Given the description of an element on the screen output the (x, y) to click on. 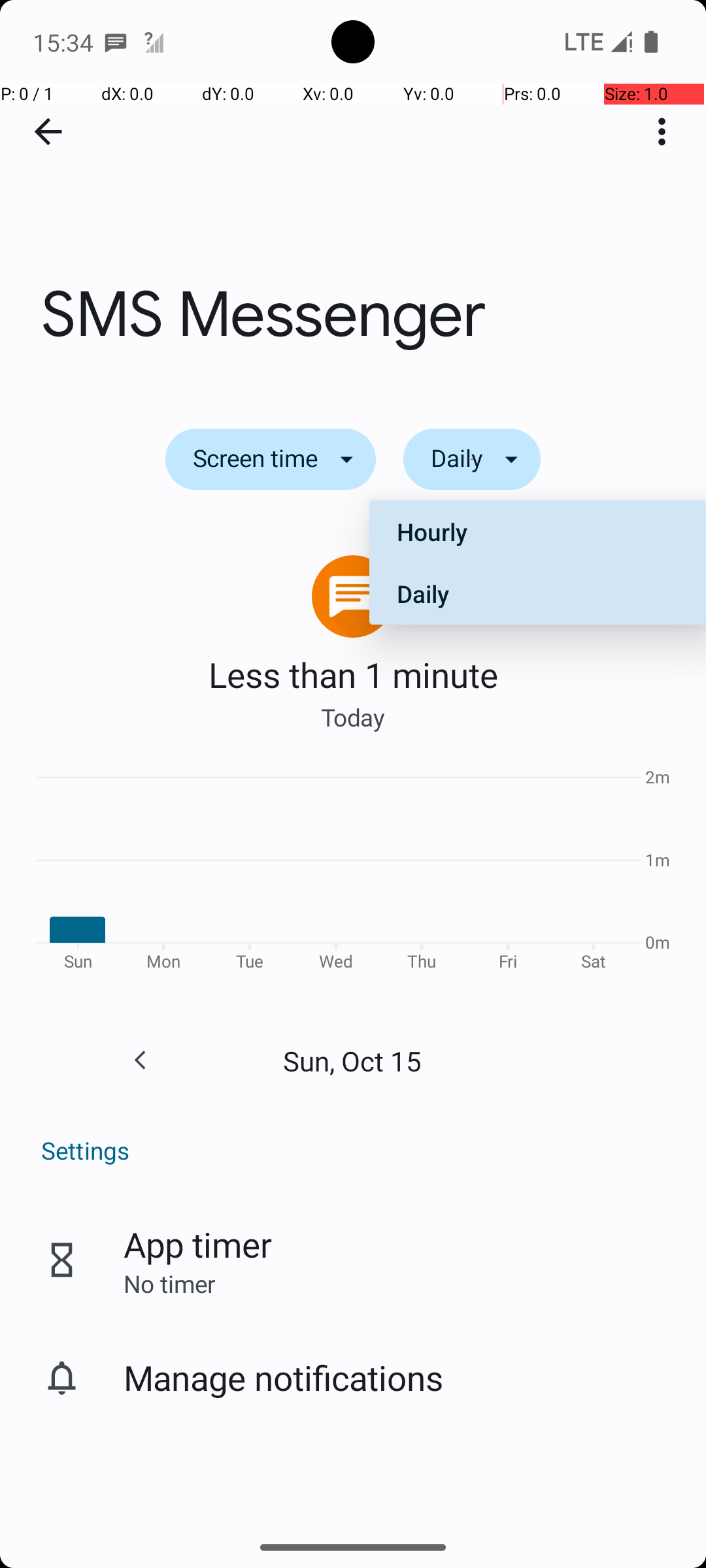
Hourly Element type: android.widget.TextView (537, 531)
